Given the description of an element on the screen output the (x, y) to click on. 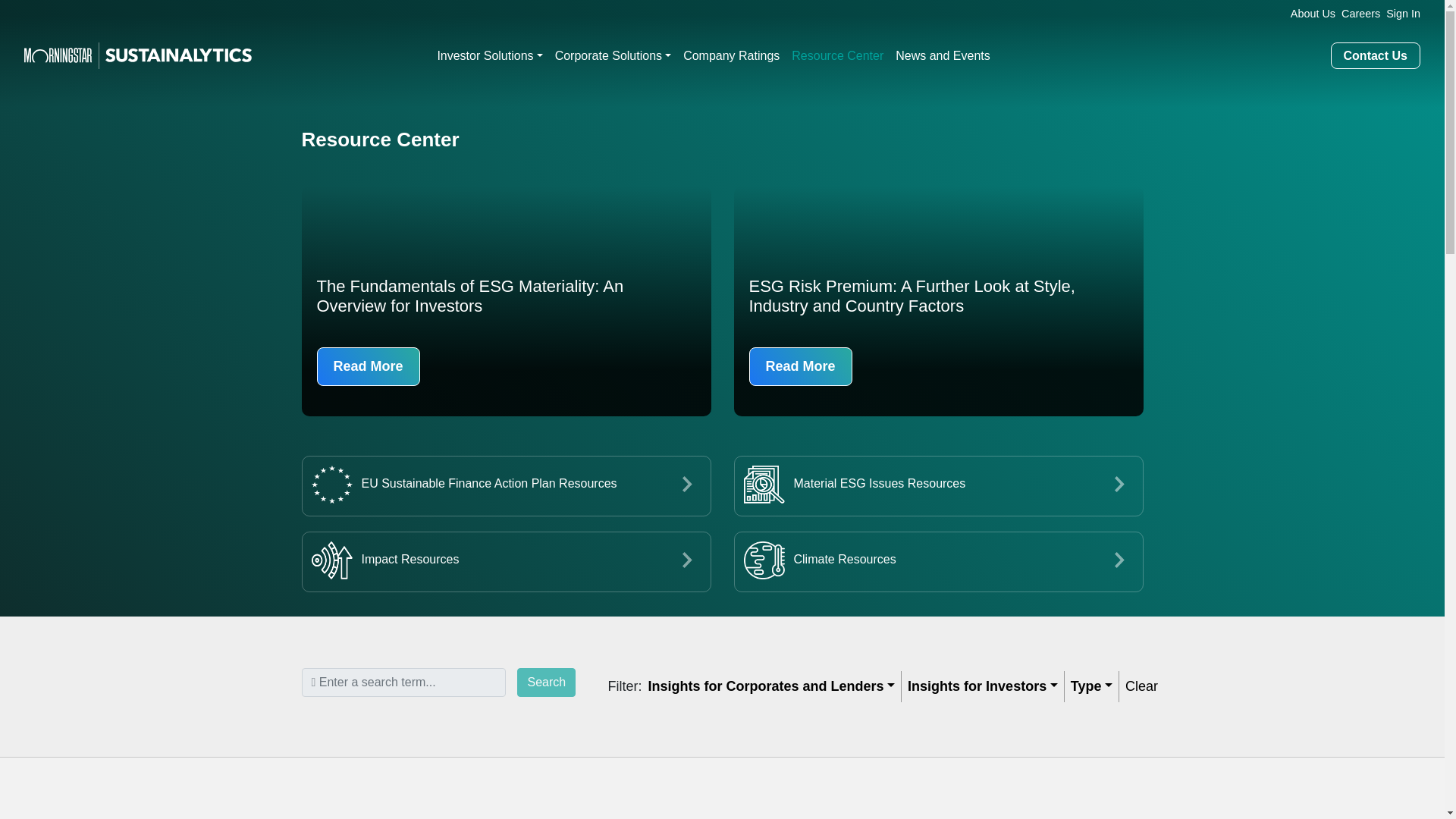
Corporate Solutions (613, 55)
Sign In (1400, 14)
Careers (1357, 14)
Investor Solutions (489, 55)
Search input (403, 682)
About Us (1309, 14)
